Given the description of an element on the screen output the (x, y) to click on. 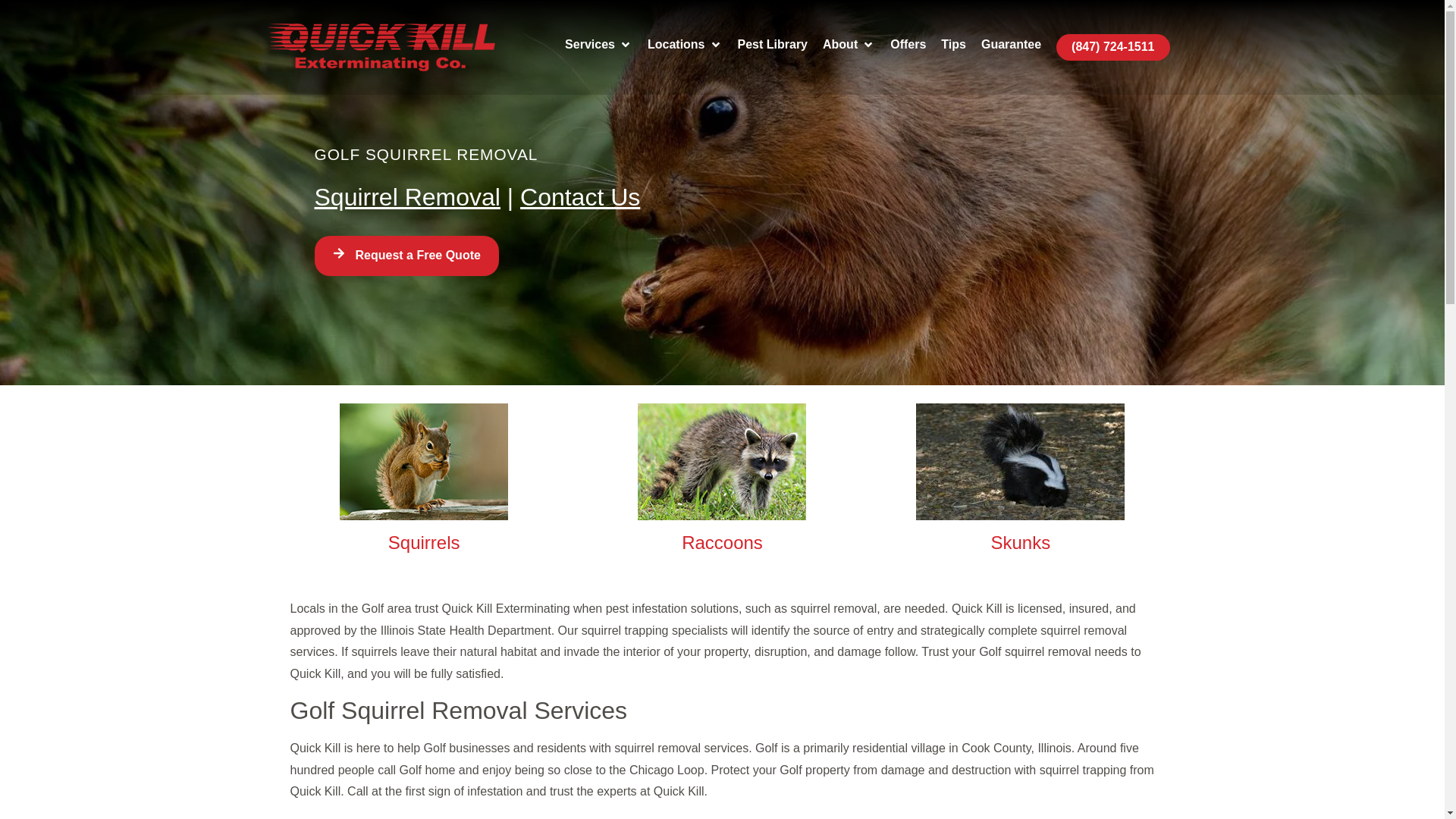
Pest Library (773, 45)
Locations (675, 45)
About (839, 45)
Services (589, 45)
